Given the description of an element on the screen output the (x, y) to click on. 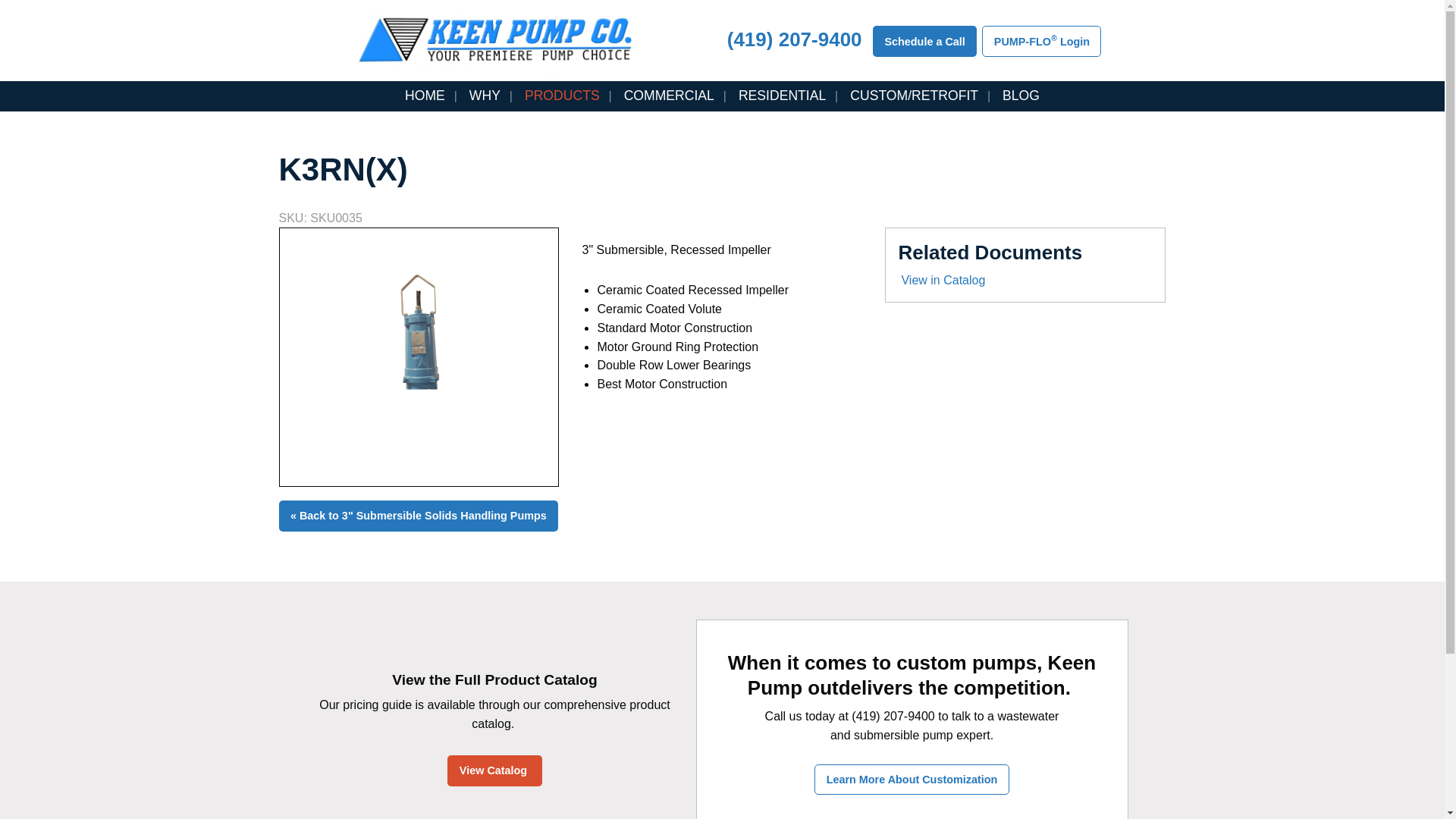
COMMERCIAL (668, 96)
BLOG (1020, 96)
HOME (425, 96)
WHY (484, 96)
View in Catalog (1025, 280)
Learn More About Customization (911, 779)
Schedule a Call (924, 40)
PRODUCTS (561, 96)
View Catalog  (493, 770)
RESIDENTIAL (782, 96)
